Given the description of an element on the screen output the (x, y) to click on. 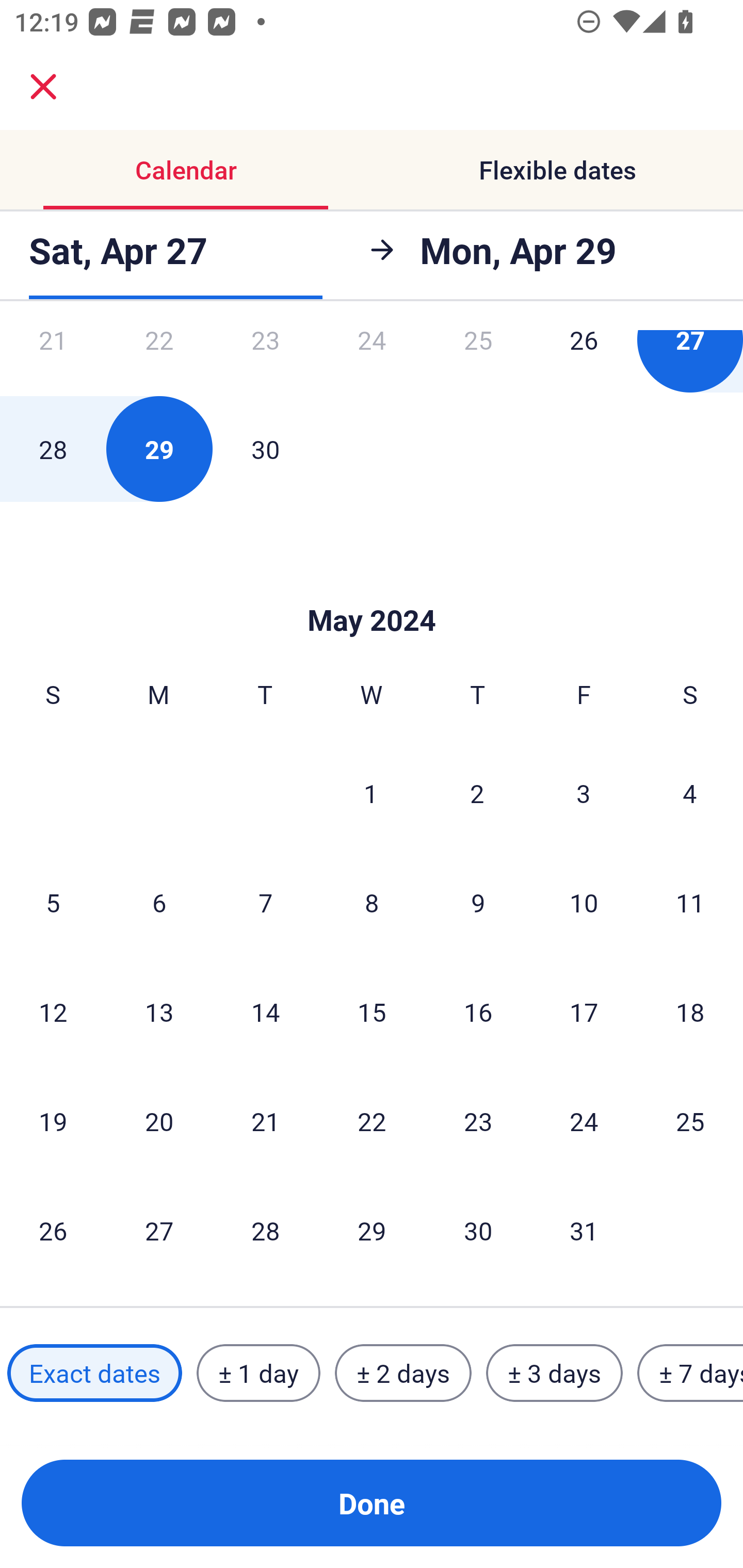
close. (43, 86)
Flexible dates (557, 170)
21 Sunday, April 21, 2024 (53, 361)
22 Monday, April 22, 2024 (159, 361)
23 Tuesday, April 23, 2024 (265, 361)
24 Wednesday, April 24, 2024 (371, 361)
25 Thursday, April 25, 2024 (477, 361)
26 Friday, April 26, 2024 (584, 361)
30 Tuesday, April 30, 2024 (265, 448)
Skip to Done (371, 589)
1 Wednesday, May 1, 2024 (371, 792)
2 Thursday, May 2, 2024 (477, 792)
3 Friday, May 3, 2024 (583, 792)
4 Saturday, May 4, 2024 (689, 792)
5 Sunday, May 5, 2024 (53, 901)
6 Monday, May 6, 2024 (159, 901)
7 Tuesday, May 7, 2024 (265, 901)
8 Wednesday, May 8, 2024 (371, 901)
9 Thursday, May 9, 2024 (477, 901)
10 Friday, May 10, 2024 (584, 901)
11 Saturday, May 11, 2024 (690, 901)
12 Sunday, May 12, 2024 (53, 1011)
13 Monday, May 13, 2024 (159, 1011)
14 Tuesday, May 14, 2024 (265, 1011)
15 Wednesday, May 15, 2024 (371, 1011)
16 Thursday, May 16, 2024 (477, 1011)
17 Friday, May 17, 2024 (584, 1011)
18 Saturday, May 18, 2024 (690, 1011)
19 Sunday, May 19, 2024 (53, 1120)
20 Monday, May 20, 2024 (159, 1120)
21 Tuesday, May 21, 2024 (265, 1120)
22 Wednesday, May 22, 2024 (371, 1120)
23 Thursday, May 23, 2024 (477, 1120)
24 Friday, May 24, 2024 (584, 1120)
25 Saturday, May 25, 2024 (690, 1120)
26 Sunday, May 26, 2024 (53, 1229)
27 Monday, May 27, 2024 (159, 1229)
28 Tuesday, May 28, 2024 (265, 1229)
29 Wednesday, May 29, 2024 (371, 1229)
30 Thursday, May 30, 2024 (477, 1229)
31 Friday, May 31, 2024 (584, 1229)
Exact dates (94, 1372)
± 1 day (258, 1372)
± 2 days (403, 1372)
± 3 days (553, 1372)
± 7 days (690, 1372)
Done (371, 1502)
